Given the description of an element on the screen output the (x, y) to click on. 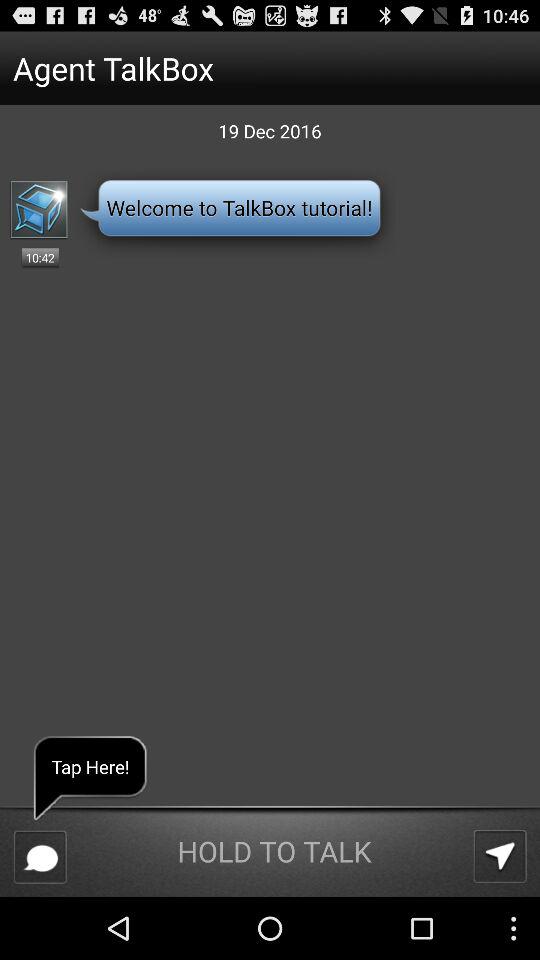
press app to the right of hold to talk item (499, 856)
